Given the description of an element on the screen output the (x, y) to click on. 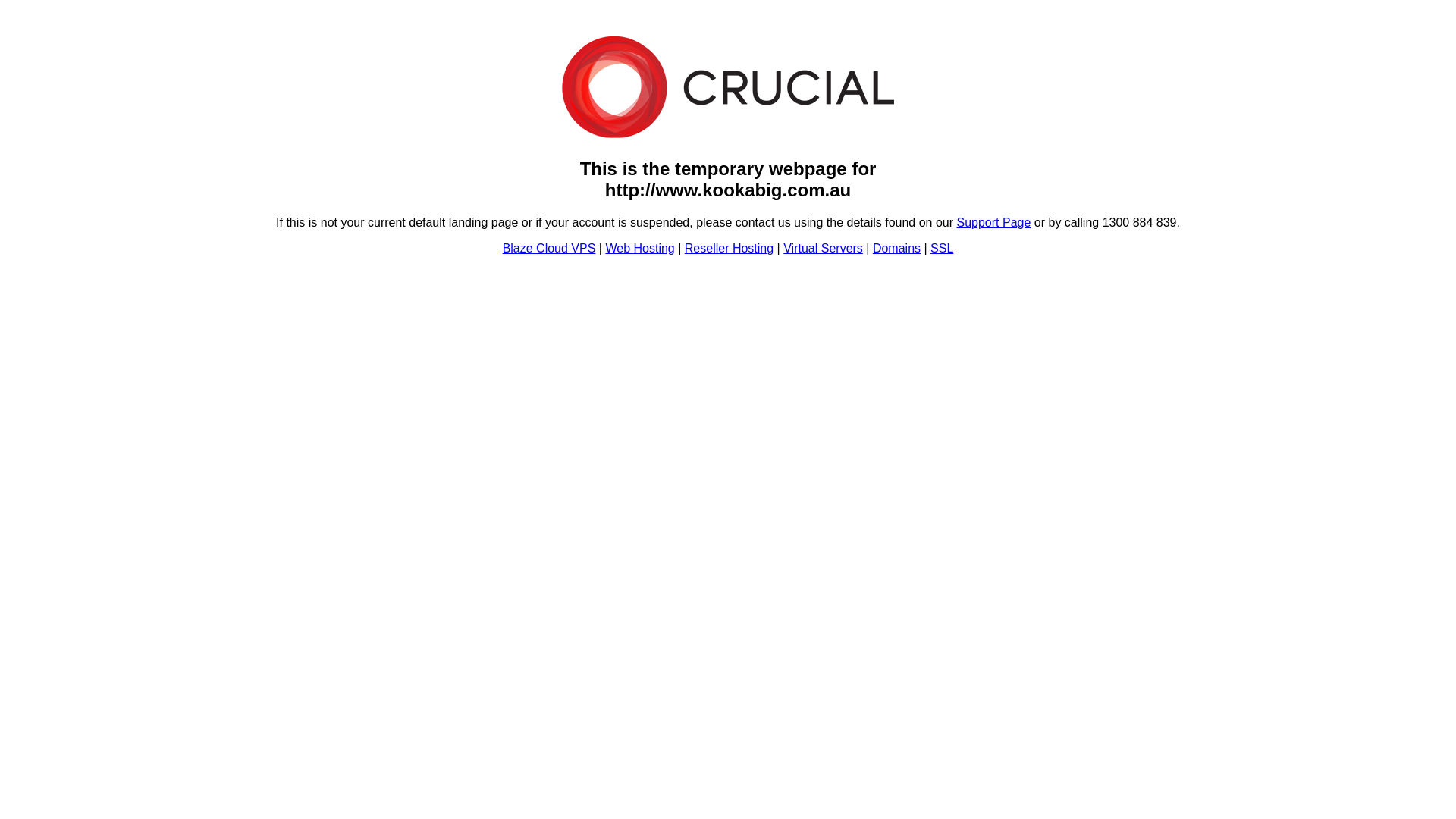
Domains Element type: text (896, 247)
Blaze Cloud VPS Element type: text (549, 247)
SSL Element type: text (941, 247)
Virtual Servers Element type: text (822, 247)
Web Hosting Element type: text (639, 247)
Reseller Hosting Element type: text (728, 247)
Support Page Element type: text (994, 222)
